Given the description of an element on the screen output the (x, y) to click on. 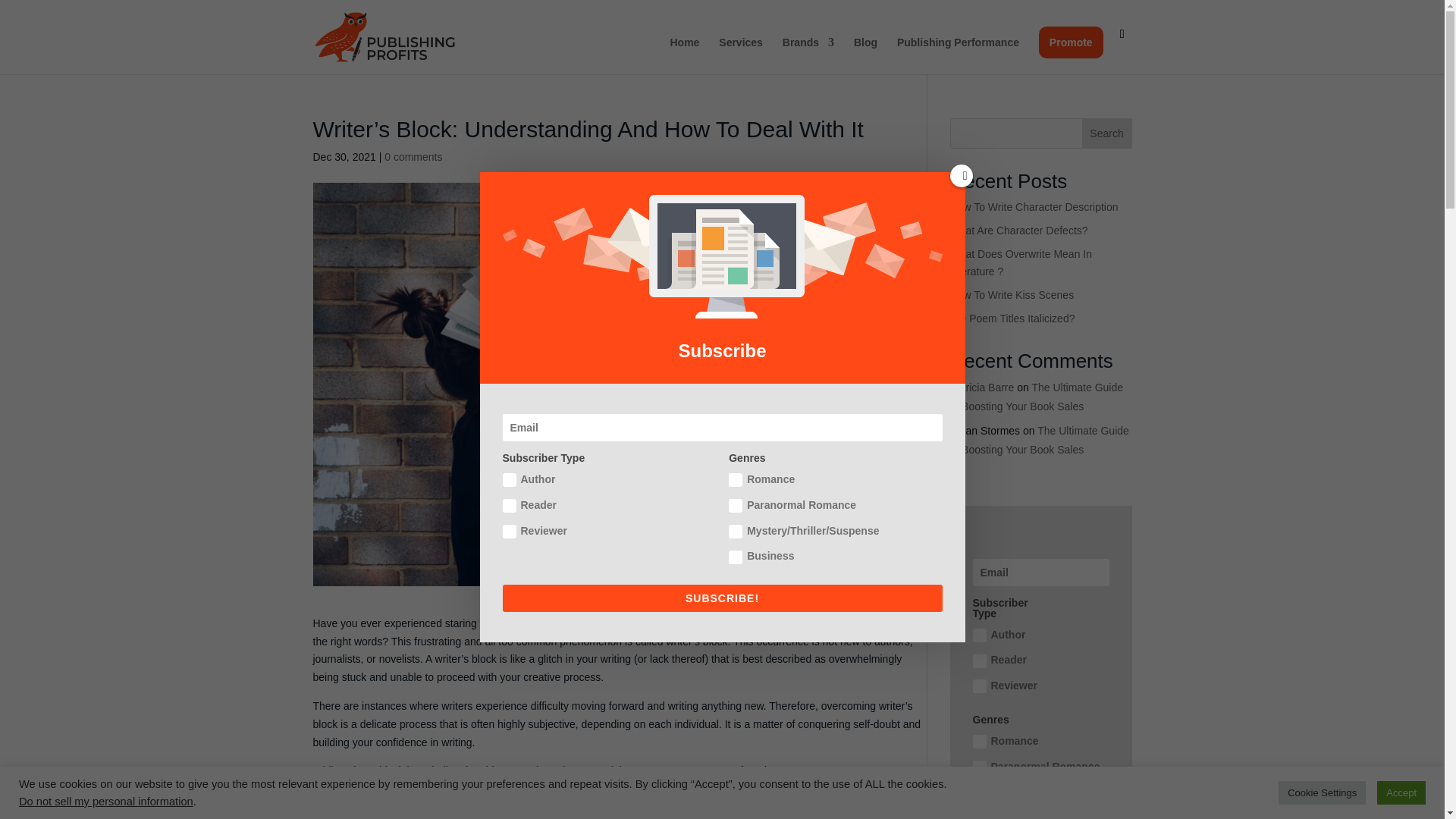
Promote (1071, 41)
The Ultimate Guide to Boosting Your Book Sales (1035, 396)
The Ultimate Guide to Boosting Your Book Sales (1038, 440)
Services (740, 55)
What Are Character Defects? (1018, 230)
What Does Overwrite Mean In Literature ? (1020, 263)
How To Write Kiss Scenes (1011, 295)
Are Poem Titles Italicized? (1011, 318)
How To Write Character Description (1033, 206)
Publishing Performance (957, 55)
Search (1106, 132)
Brands (808, 55)
0 comments (413, 156)
Patricia Barre (981, 387)
